Given the description of an element on the screen output the (x, y) to click on. 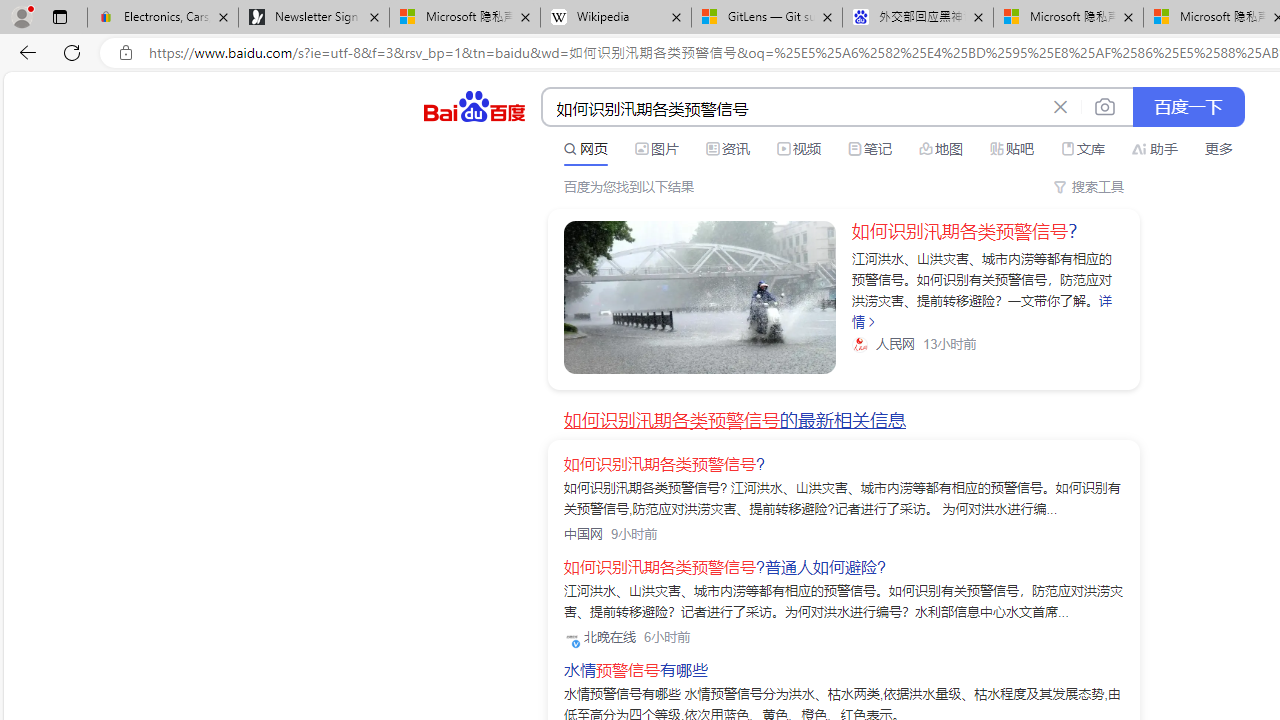
AutomationID: kw (793, 107)
